Given the description of an element on the screen output the (x, y) to click on. 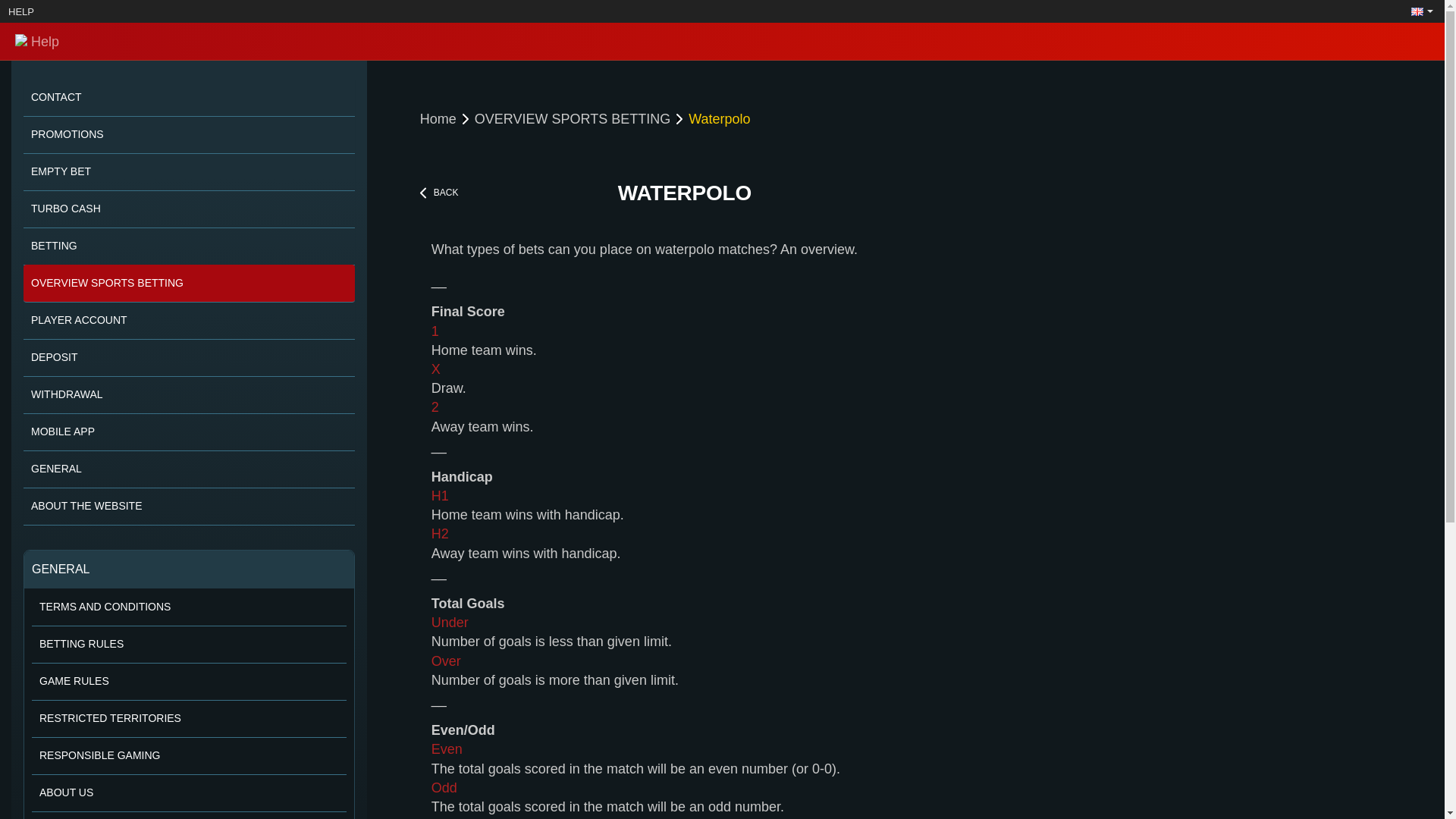
Help (244, 41)
PROMOTIONS (189, 134)
v3.meridianbet.be (244, 41)
TURBO CASH (189, 209)
CONTACT (189, 97)
HELP (21, 10)
EMPTY BET (189, 171)
